Given the description of an element on the screen output the (x, y) to click on. 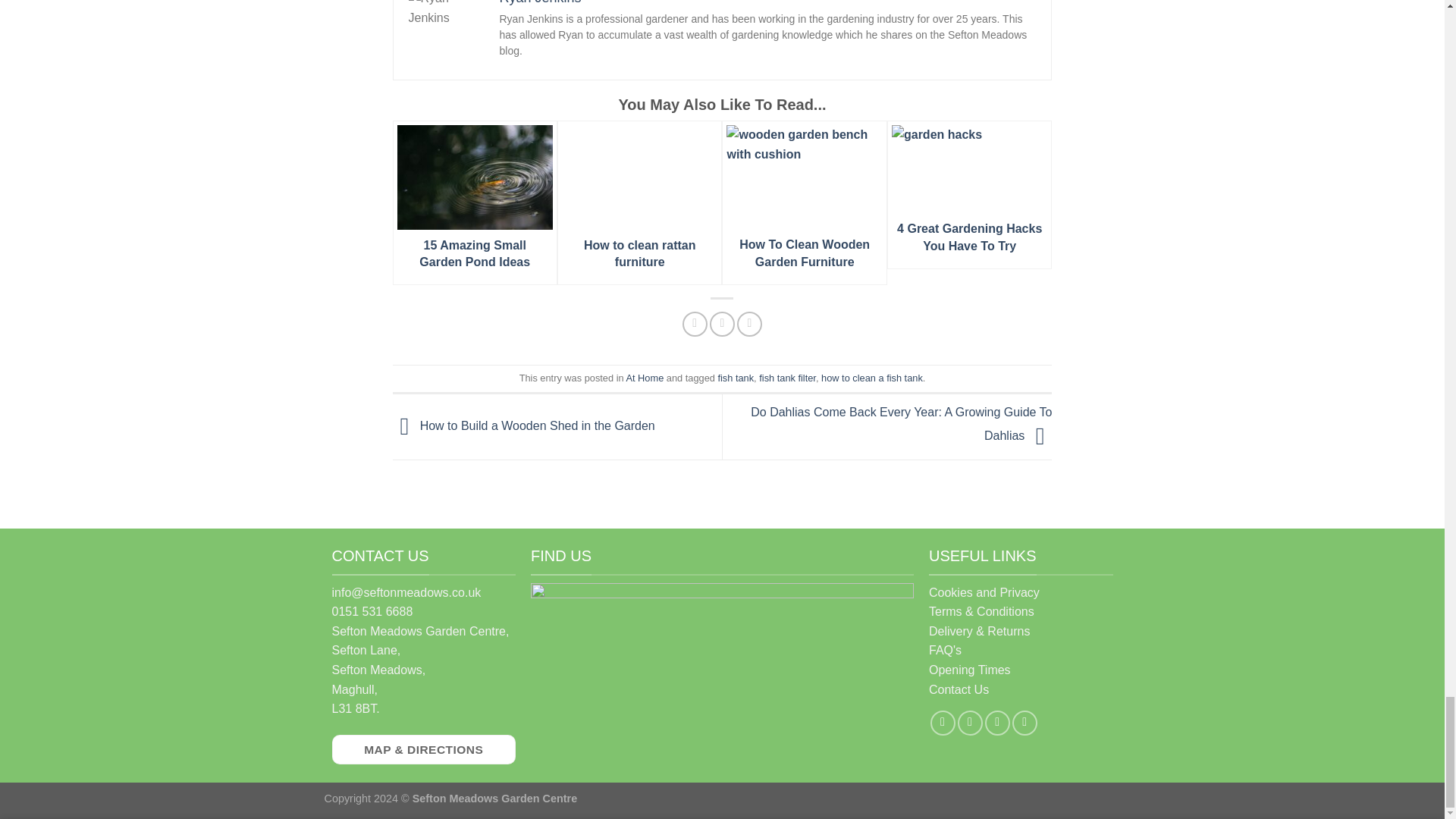
4 Great Gardening Hacks You Have To Try (968, 194)
Follow on Instagram (970, 722)
Follow on Twitter (997, 722)
How To Clean Wooden Garden Furniture (804, 202)
Share on Facebook (694, 324)
How to clean rattan furniture (639, 202)
Follow on Facebook (942, 722)
15 Amazing Small Garden Pond Ideas (475, 202)
Share on Twitter (722, 324)
Email to a Friend (748, 324)
